Given the description of an element on the screen output the (x, y) to click on. 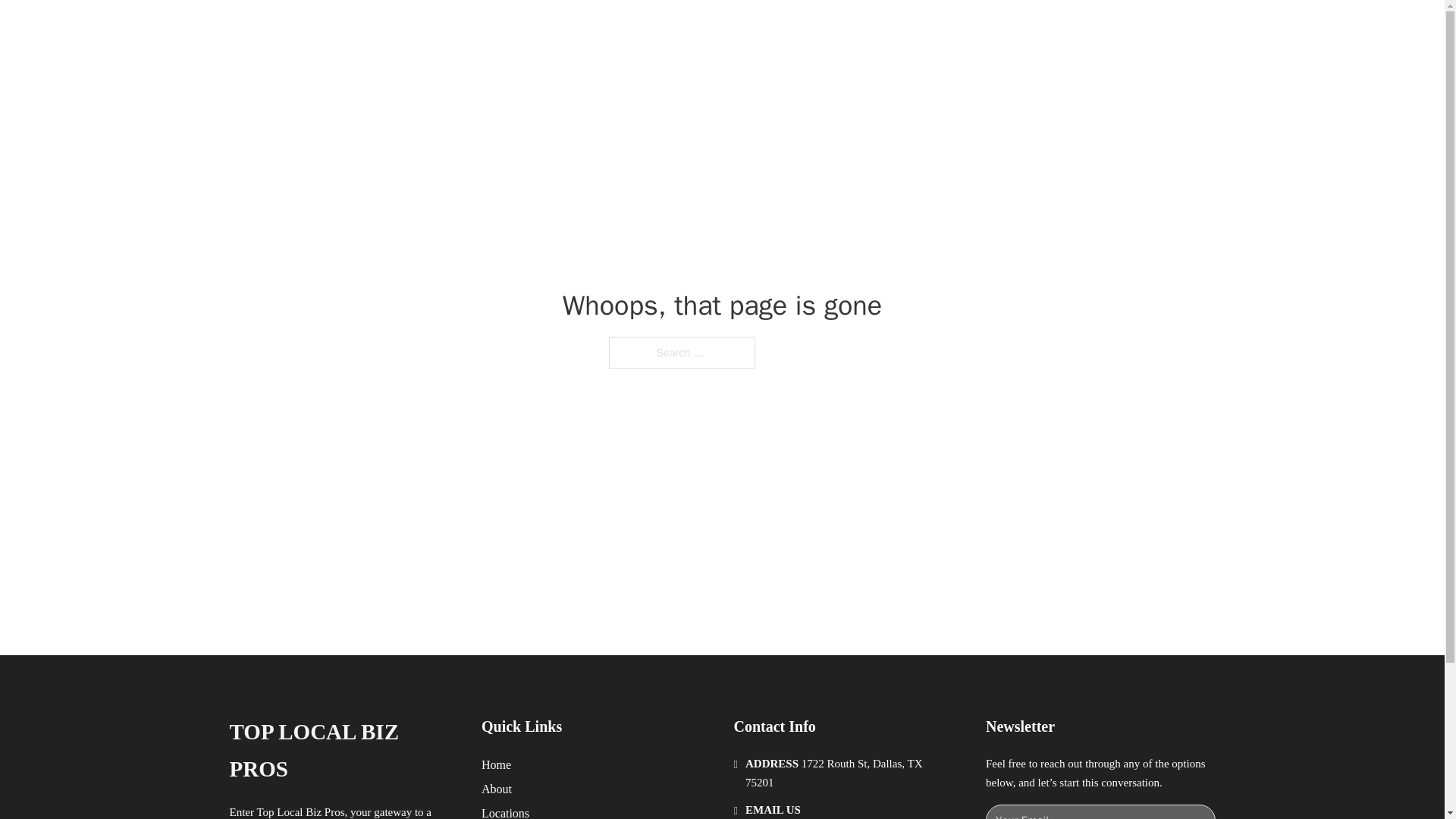
TOP LOCAL BIZ PROS (343, 750)
LOCATIONS (990, 29)
About (496, 788)
Locations (505, 811)
Home (496, 764)
TOP LOCAL BIZ PROS (415, 28)
HOME (919, 29)
